Given the description of an element on the screen output the (x, y) to click on. 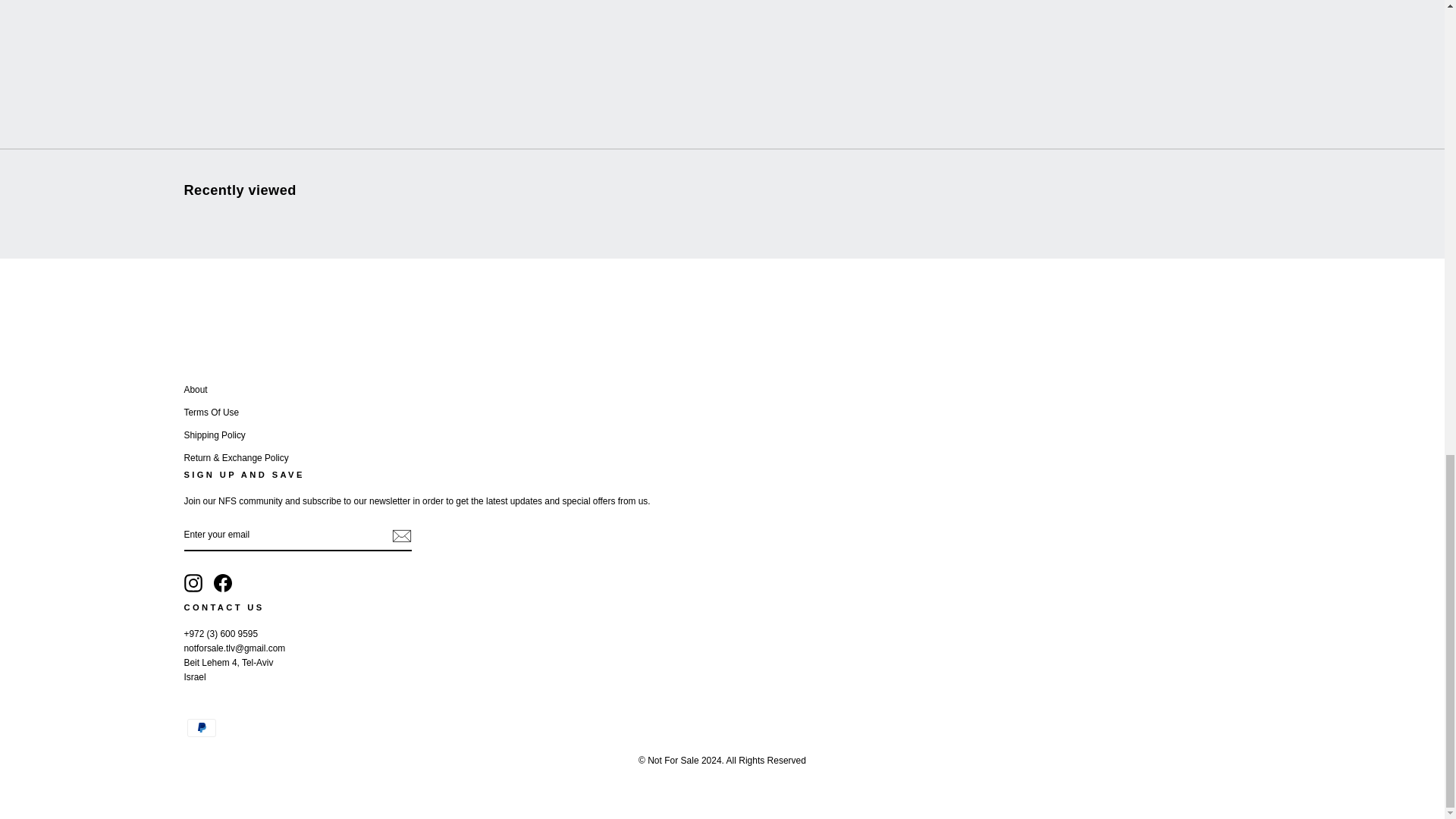
NOT FOR SALE on Facebook (222, 583)
instagram (192, 583)
PayPal (200, 728)
NOT FOR SALE on Instagram (192, 583)
icon-email (400, 535)
